Given the description of an element on the screen output the (x, y) to click on. 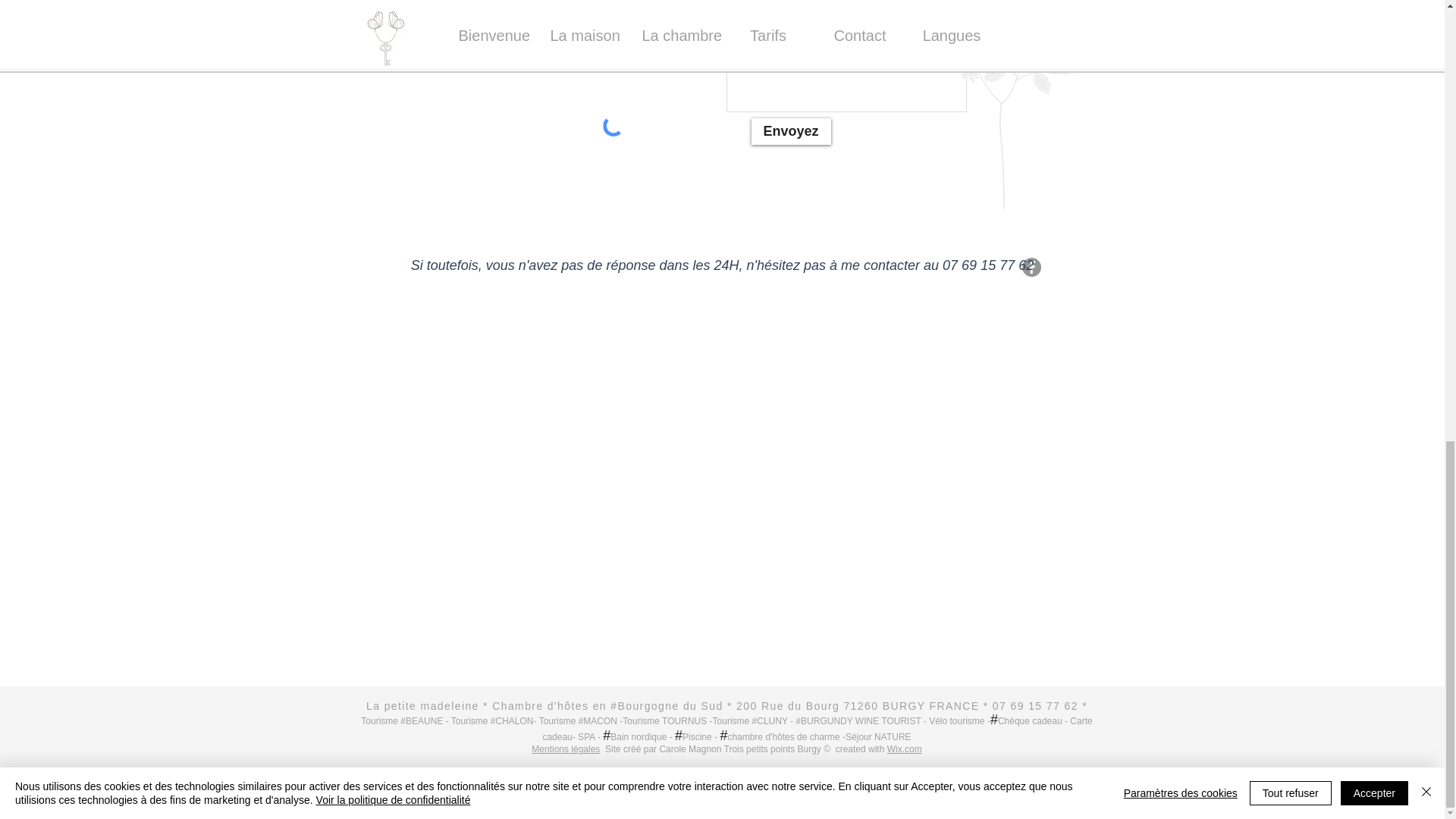
Wix.com (903, 748)
Envoyez (790, 130)
